Given the description of an element on the screen output the (x, y) to click on. 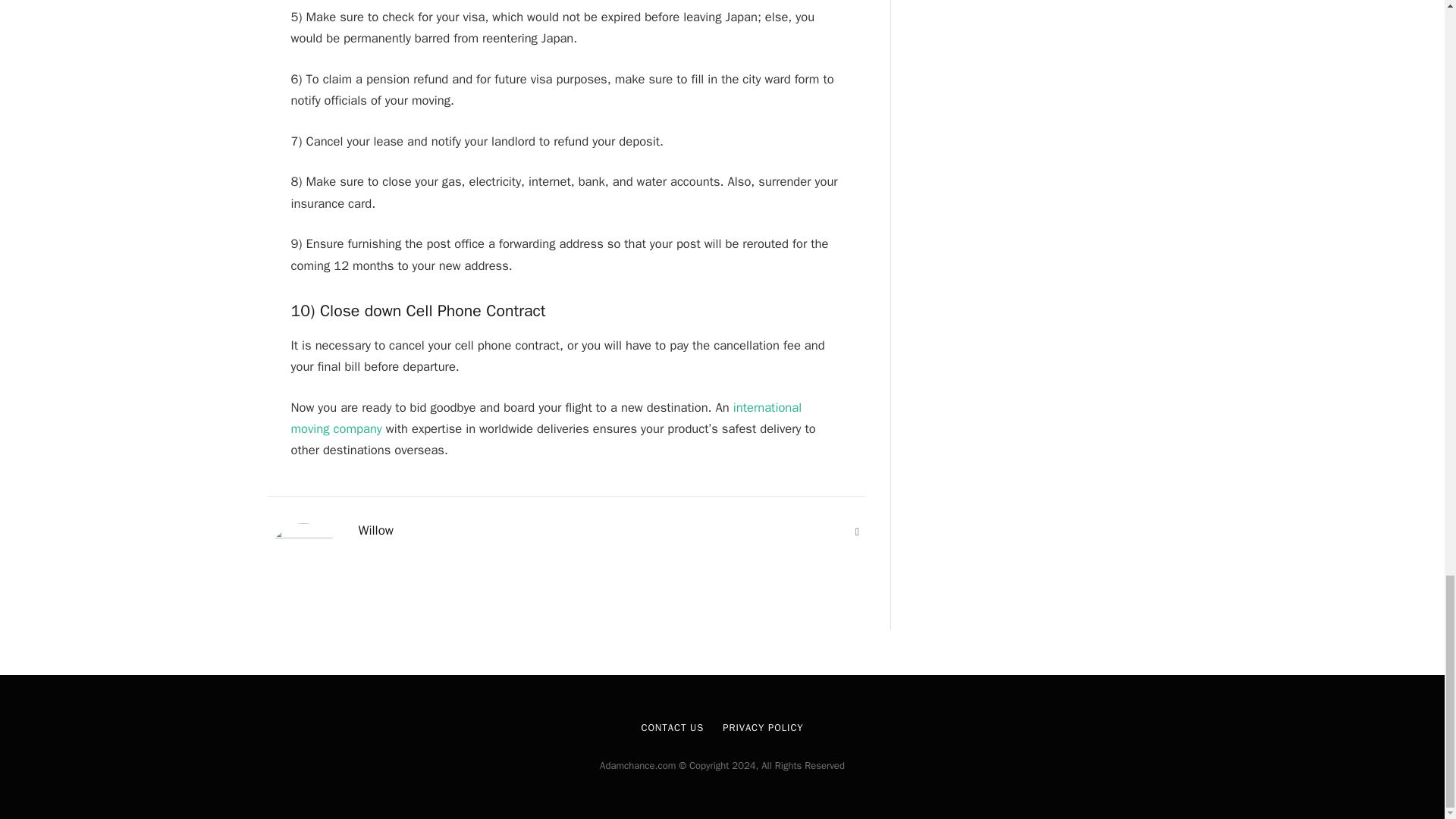
international moving company (546, 417)
Website (856, 531)
Willow (375, 530)
Posts by Willow (375, 530)
Website (856, 531)
